Given the description of an element on the screen output the (x, y) to click on. 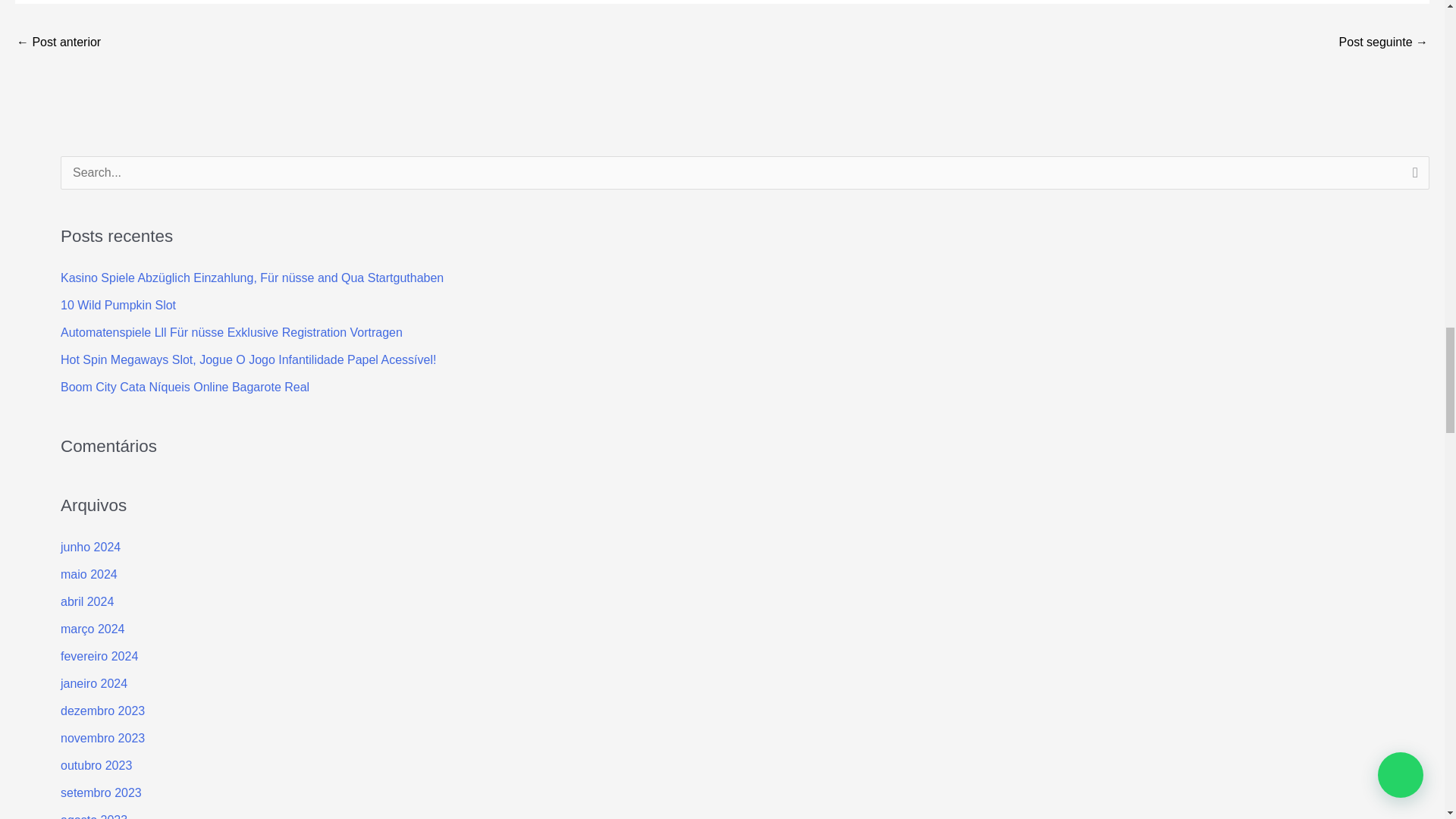
agosto 2023 (94, 816)
junho 2024 (90, 546)
maio 2024 (89, 574)
setembro 2023 (101, 792)
fevereiro 2024 (99, 656)
outubro 2023 (96, 765)
novembro 2023 (102, 738)
10 Wild Pumpkin Slot (118, 305)
